Given the description of an element on the screen output the (x, y) to click on. 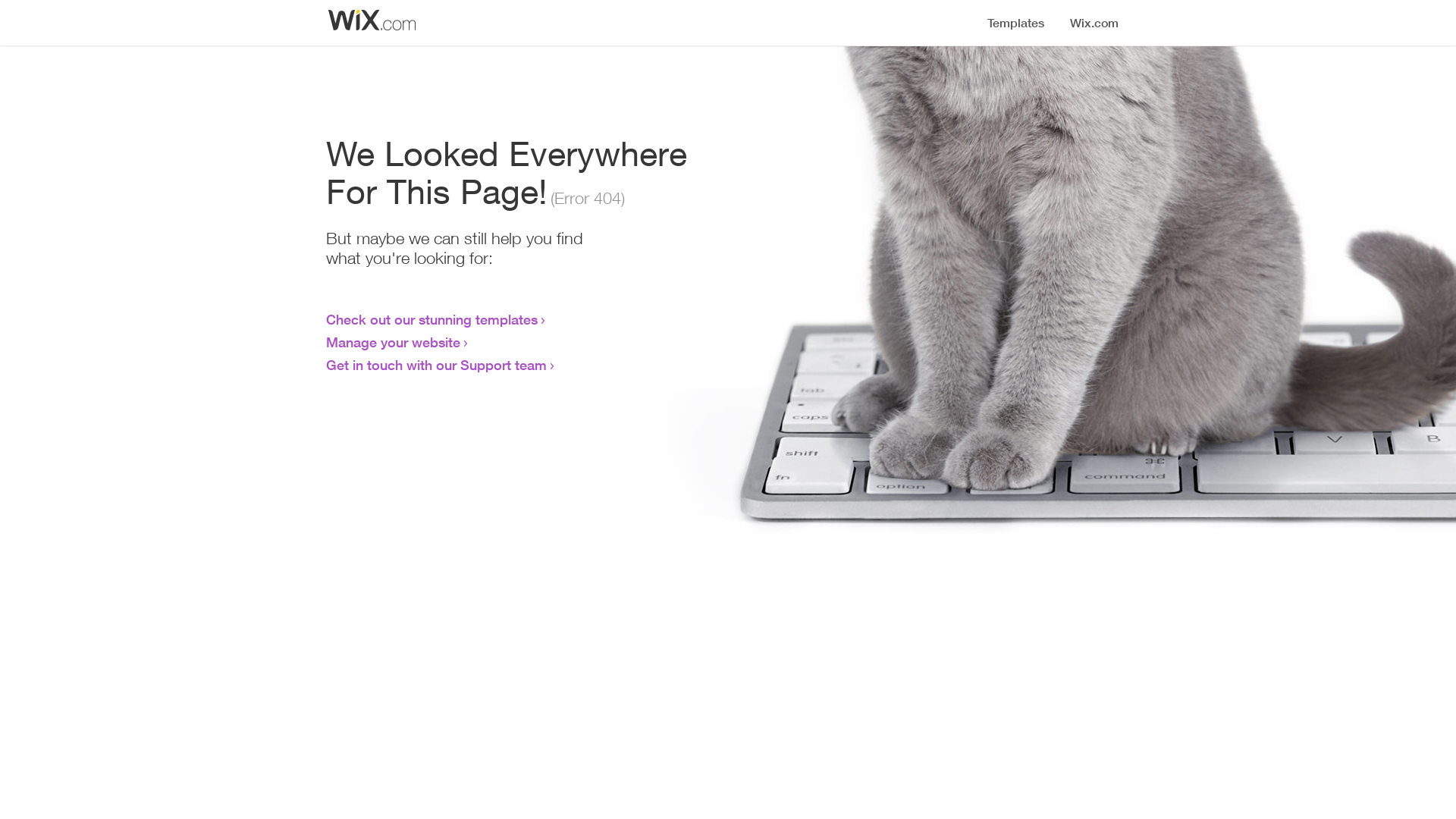
Get in touch with our Support team Element type: text (436, 364)
Check out our stunning templates Element type: text (431, 318)
Manage your website Element type: text (393, 341)
